Given the description of an element on the screen output the (x, y) to click on. 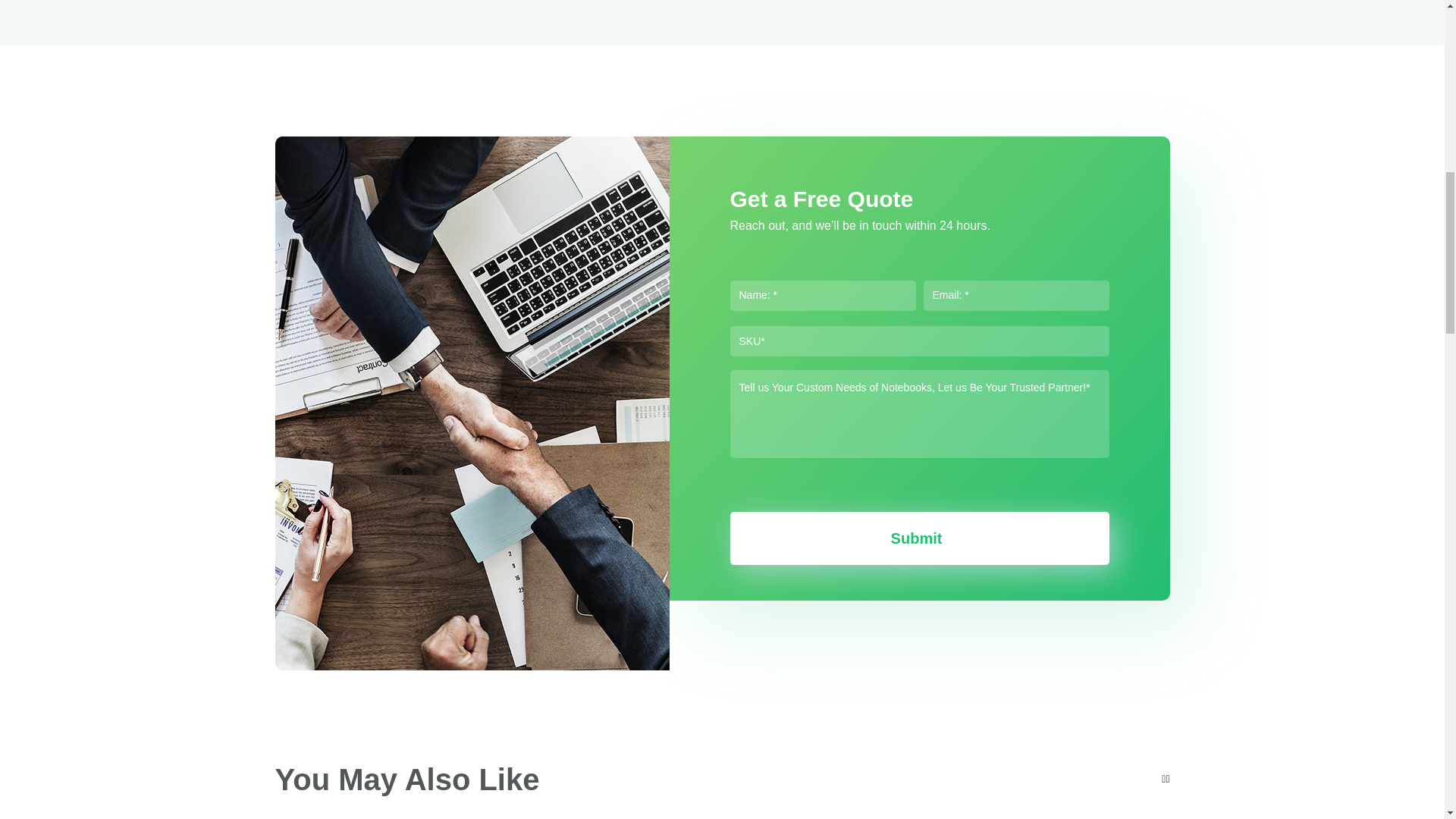
Submit (918, 538)
